Given the description of an element on the screen output the (x, y) to click on. 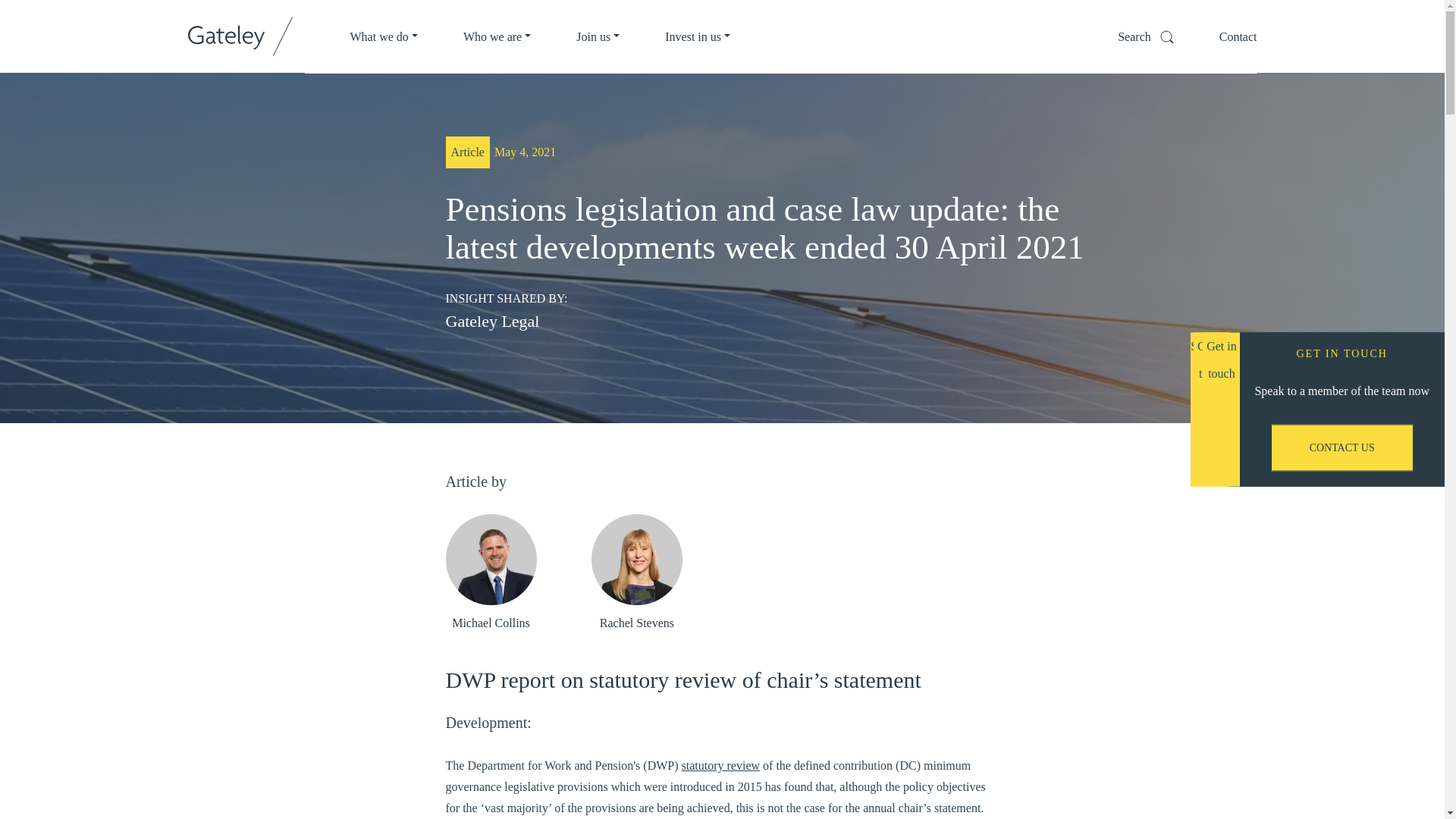
What we do (383, 36)
